Given the description of an element on the screen output the (x, y) to click on. 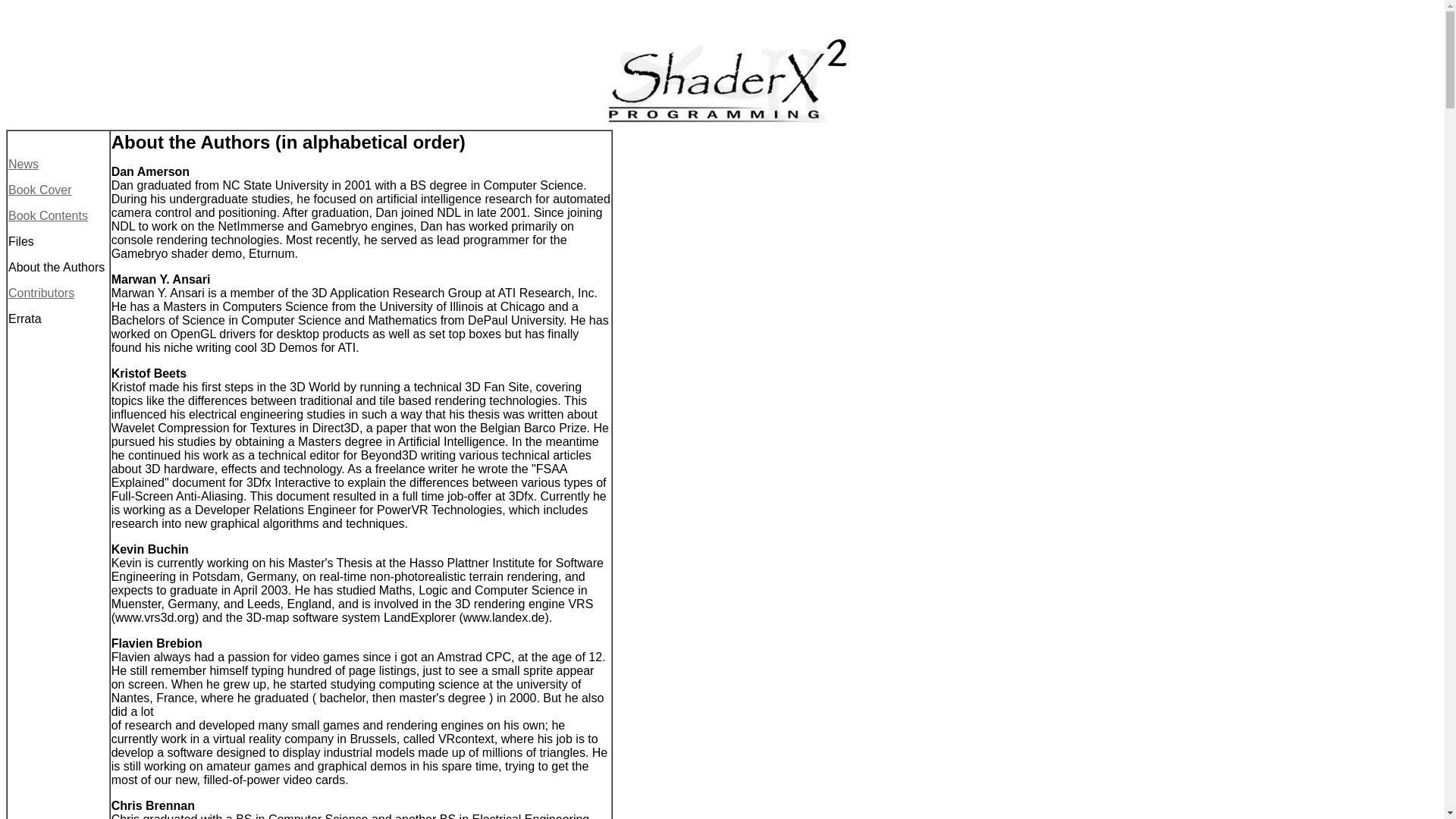
Book Cover (39, 189)
Book Contents (47, 215)
News (23, 164)
Contributors (41, 292)
